Given the description of an element on the screen output the (x, y) to click on. 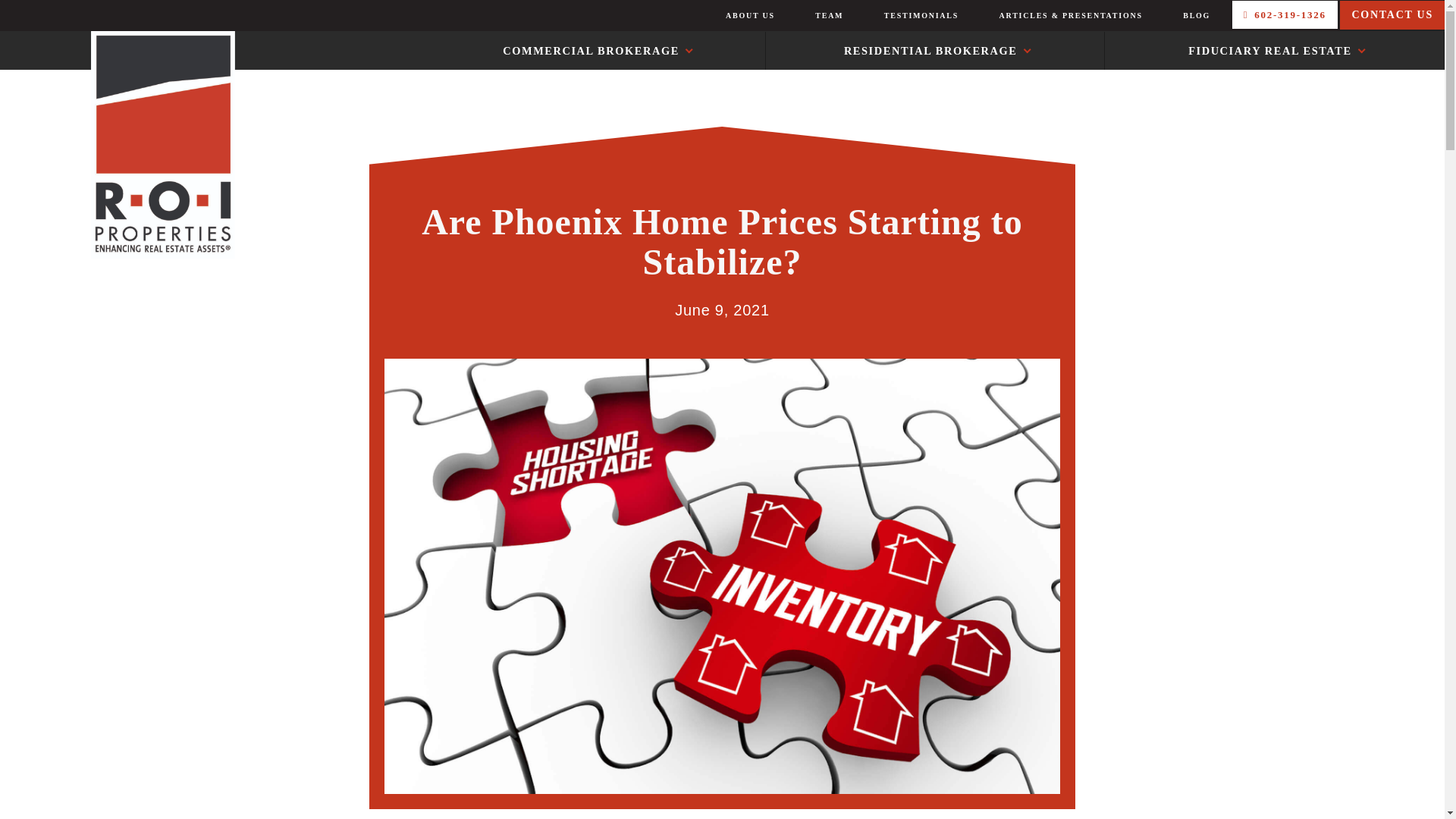
TESTIMONIALS (920, 15)
602-319-1326 (1284, 14)
COMMERCIAL BROKERAGE (663, 56)
R.O.I. Properties (120, 144)
ABOUT US (749, 15)
TEAM (828, 15)
RESIDENTIAL BROKERAGE (1040, 56)
BLOG (1195, 15)
